Given the description of an element on the screen output the (x, y) to click on. 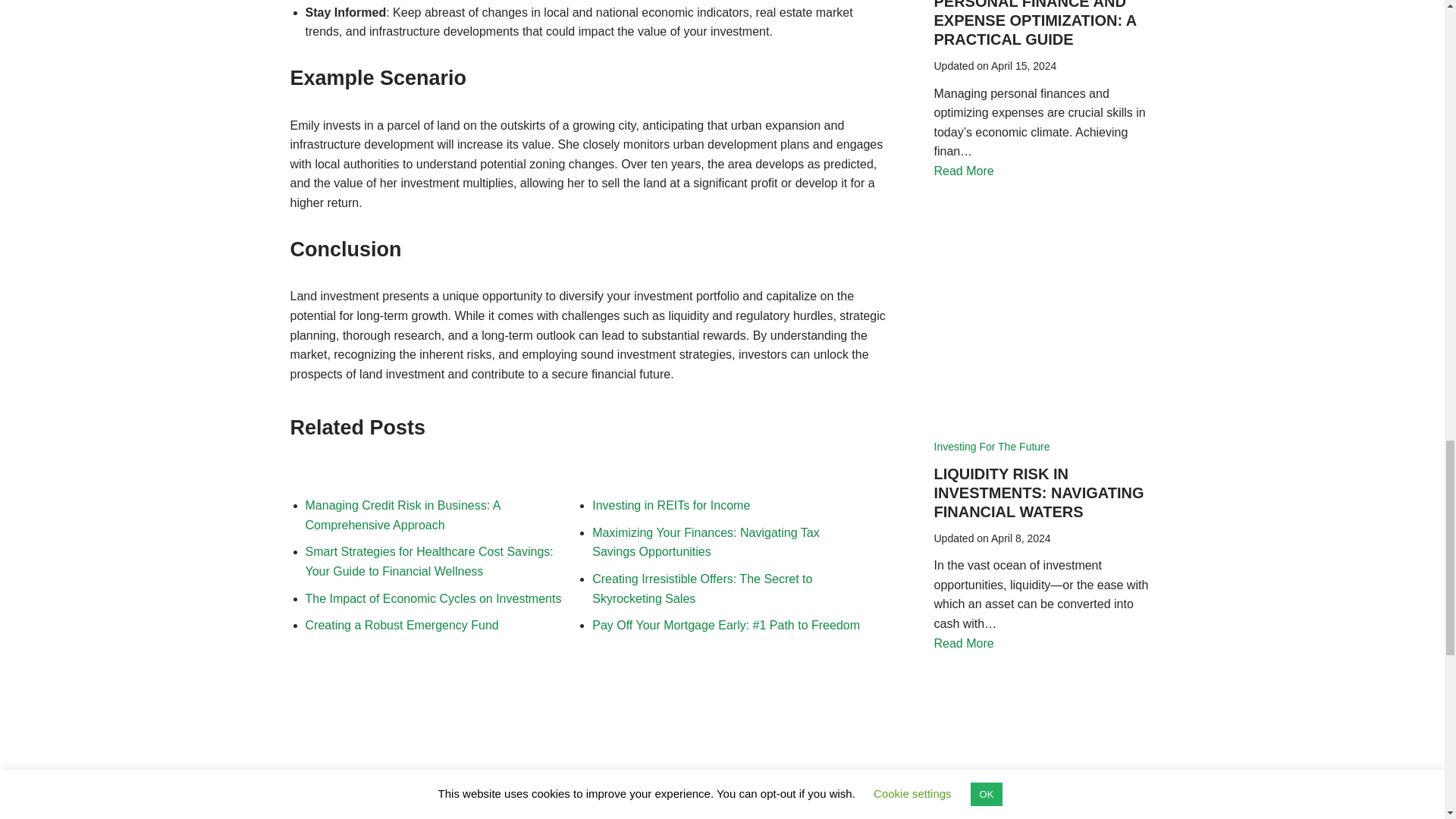
Investing in REITs for Income (670, 504)
Creating a Robust Emergency Fund (400, 625)
Managing Credit Risk in Business: A Comprehensive Approach (401, 514)
The Impact of Economic Cycles on Investments (432, 598)
